Given the description of an element on the screen output the (x, y) to click on. 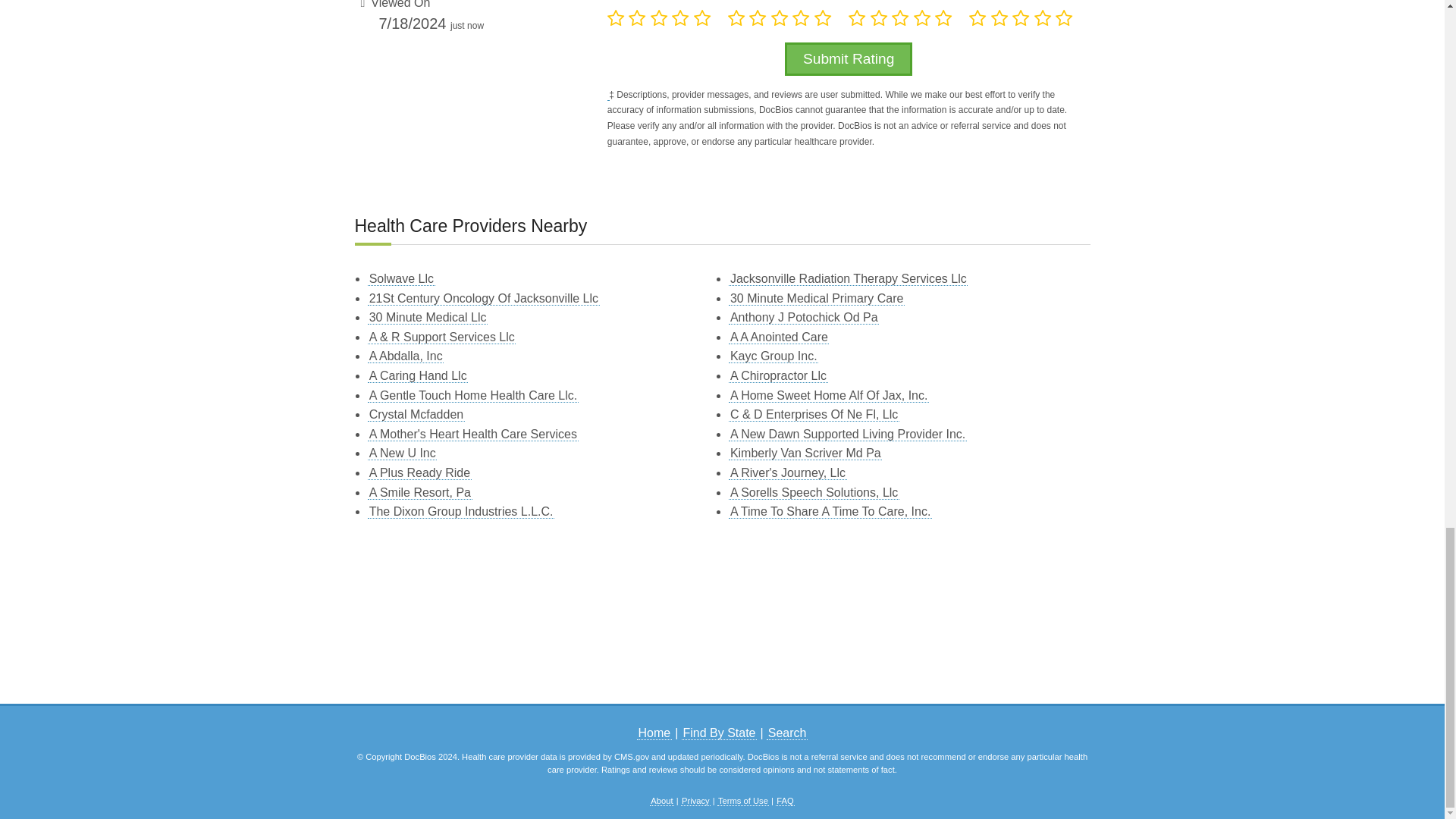
excellent (702, 18)
Submit Rating (848, 59)
A A Anointed Care (778, 336)
Jacksonville Radiation Therapy Services Llc (848, 278)
A Gentle Touch Home Health Care Llc. (473, 395)
A Caring Hand Llc (417, 376)
excellent (822, 18)
very bad (616, 18)
Kayc Group Inc. (773, 356)
30 Minute Medical Primary Care (816, 298)
Anthony J Potochick Od Pa (804, 317)
average (780, 18)
good (680, 18)
A Chiropractor Llc (778, 376)
21St Century Oncology Of Jacksonville Llc (483, 298)
